Given the description of an element on the screen output the (x, y) to click on. 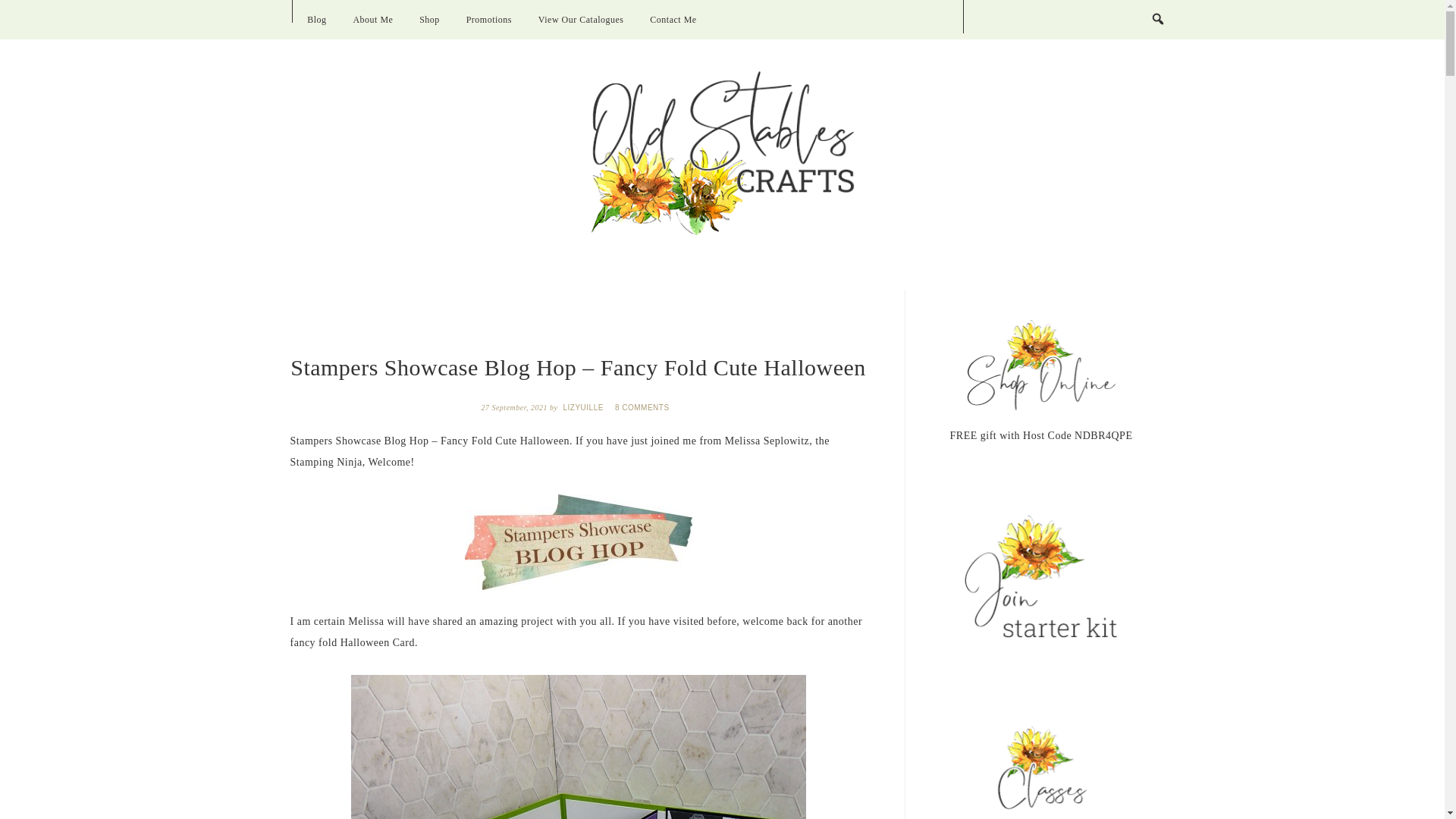
LIZYUILLE (583, 407)
Shop (429, 20)
View Our Catalogues (580, 20)
OLD STABLES CRAFTS (722, 153)
Blog (316, 20)
About Me (372, 20)
Contact Me (673, 20)
Promotions (488, 20)
8 COMMENTS (643, 407)
